Given the description of an element on the screen output the (x, y) to click on. 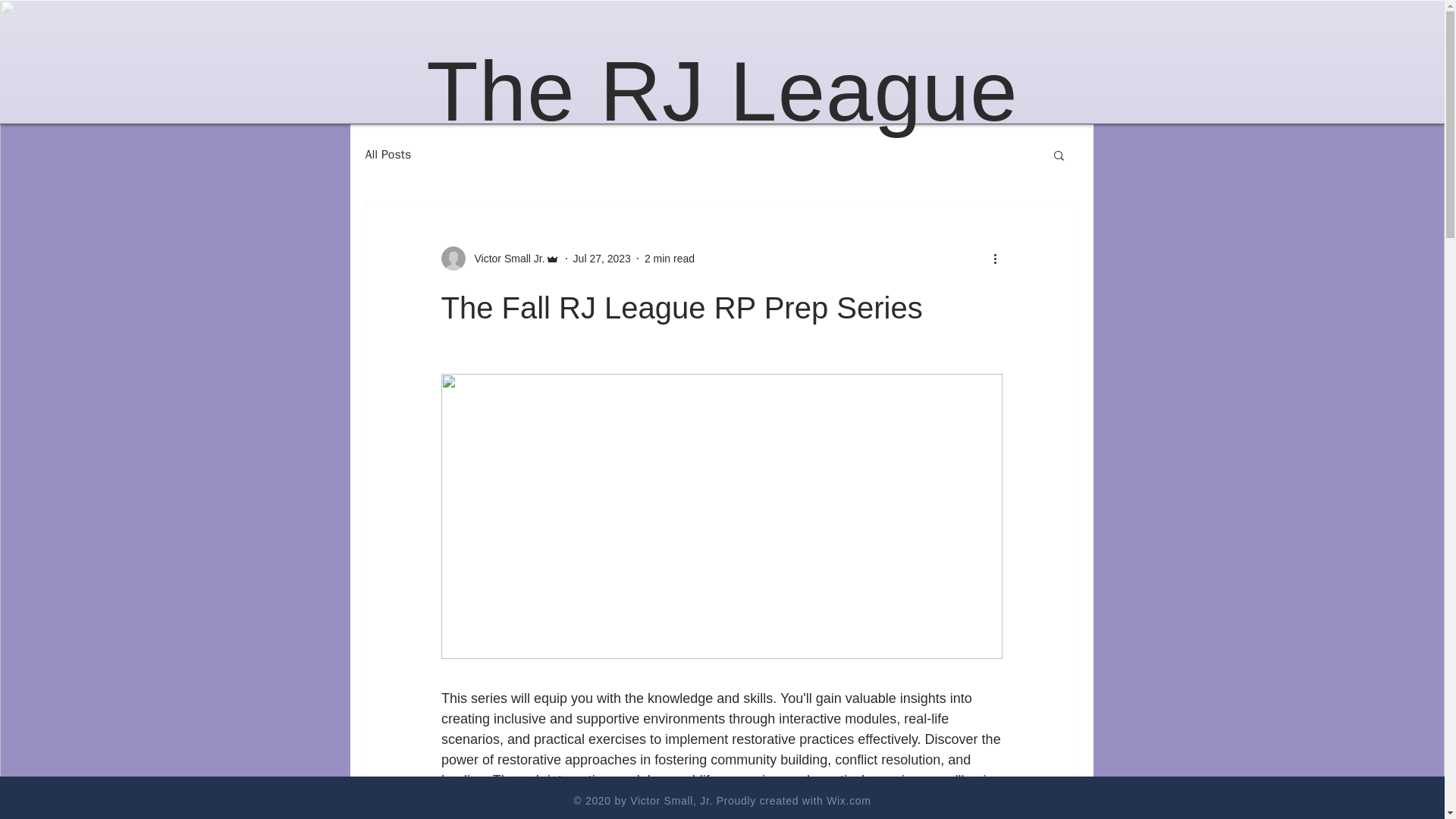
2 min read (669, 257)
All Posts (388, 154)
Proudly created with Wix.com (793, 800)
Victor Small Jr. (500, 258)
Victor  Small Jr. (504, 258)
Jul 27, 2023 (601, 257)
